Given the description of an element on the screen output the (x, y) to click on. 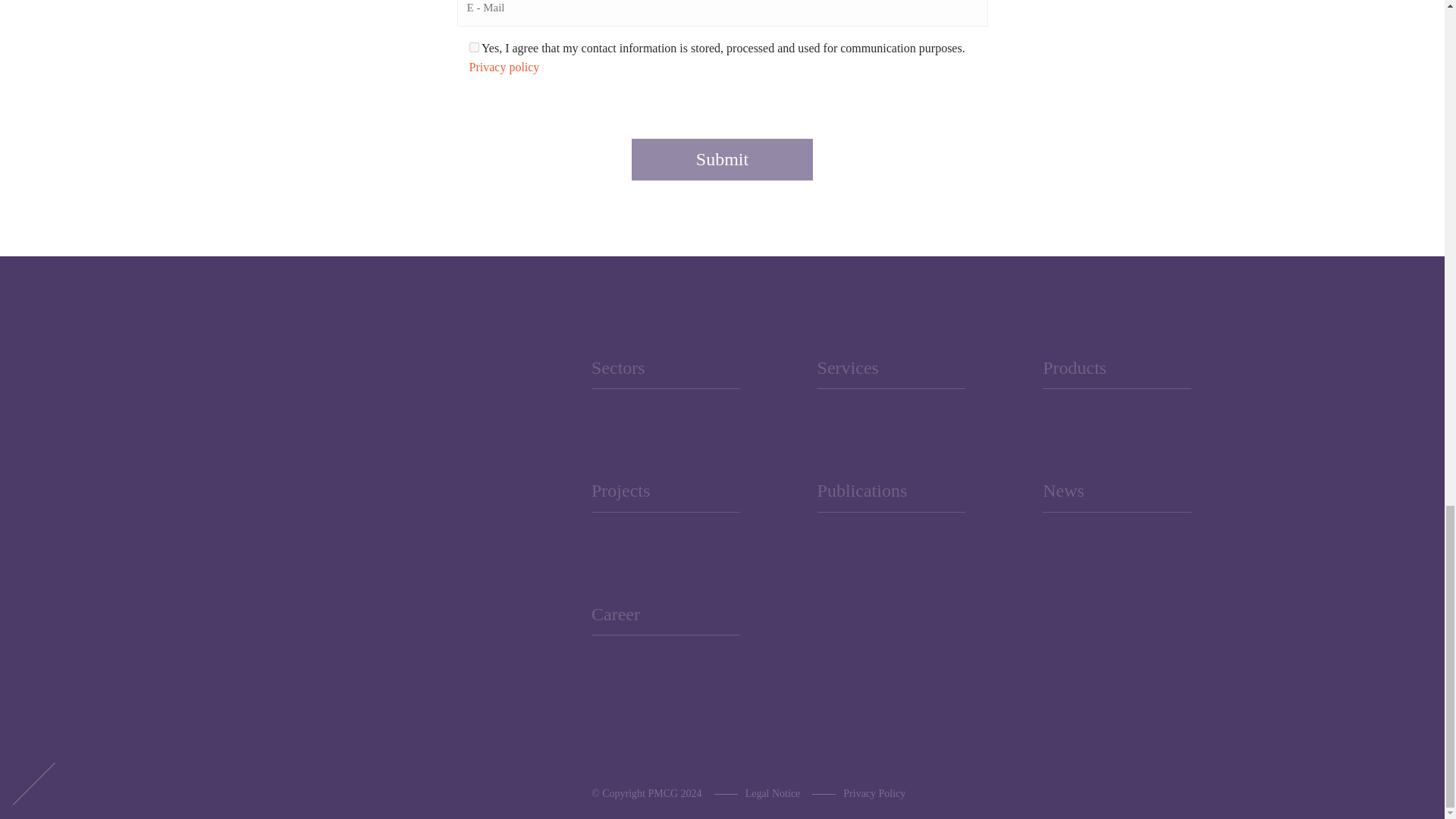
Economic Outlook and Indicators Georgia (1177, 581)
Trade (699, 271)
BAG Index and Ifo Georgian Economic Climate (1177, 649)
Tourism (459, 271)
Economic Outlook and Indicators Ukraine (459, 649)
1 (473, 47)
Economic Development (459, 338)
Sector Snapshot (937, 581)
Public Finances (1177, 338)
Human Development and Education (937, 338)
Macro Overview (699, 649)
Agriculture and Food Security (937, 271)
Green  Economy (699, 338)
Black Sea Bulletin (699, 581)
Employment Tracker (937, 649)
